Given the description of an element on the screen output the (x, y) to click on. 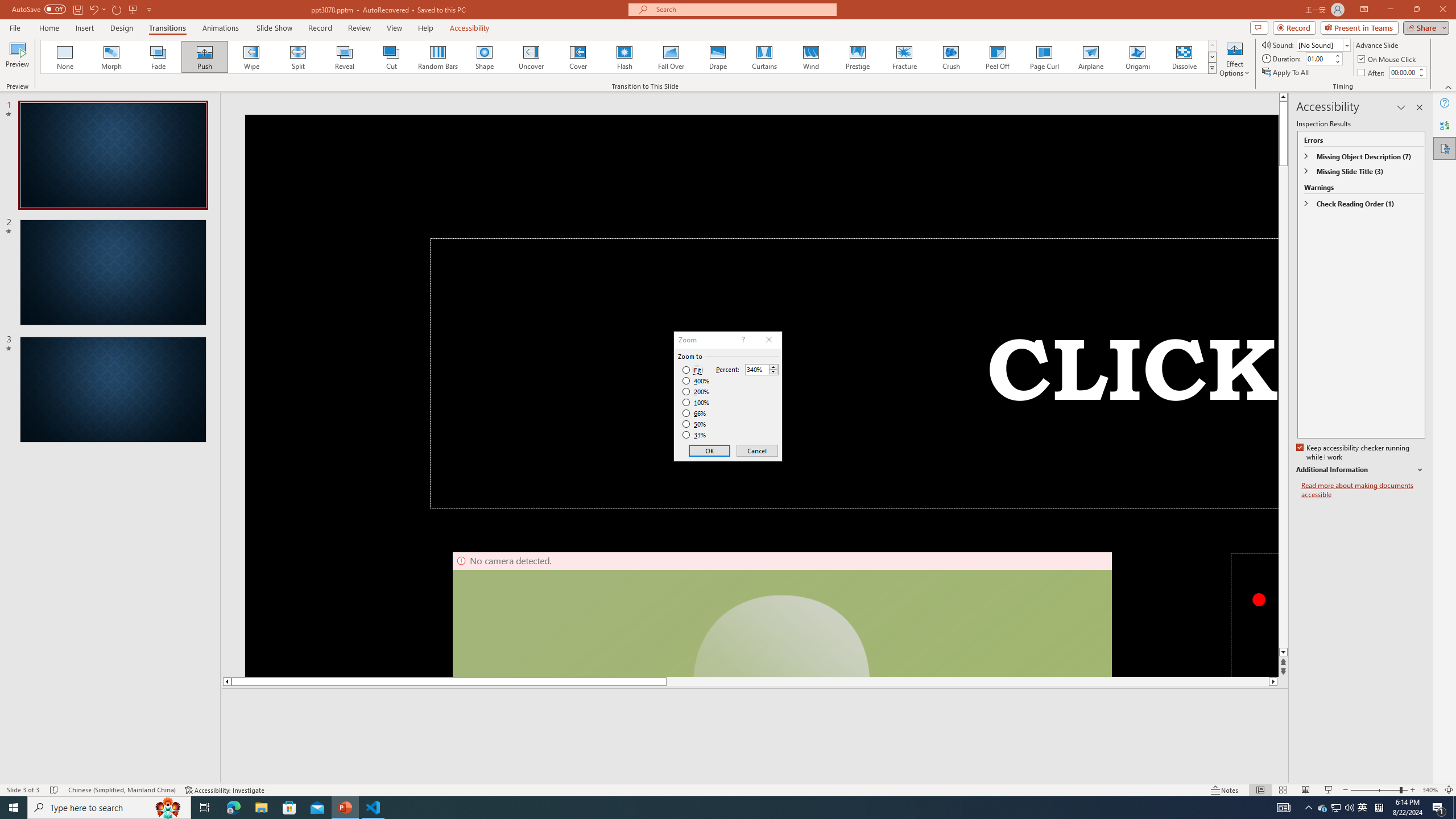
33% (694, 434)
Morph (111, 56)
AutomationID: AnimationTransitionGallery (628, 56)
